Given the description of an element on the screen output the (x, y) to click on. 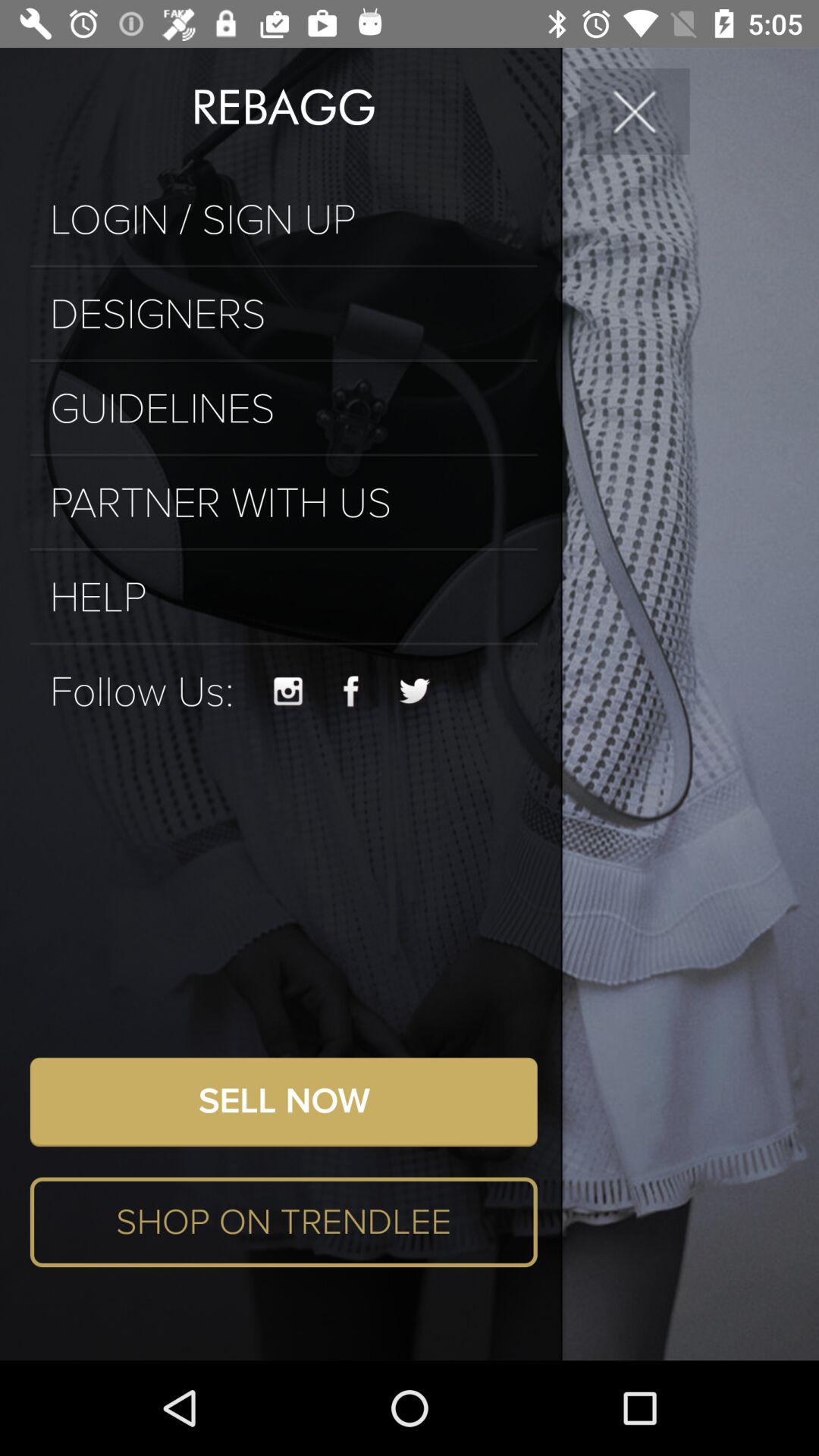
visit instagram account (288, 691)
